Given the description of an element on the screen output the (x, y) to click on. 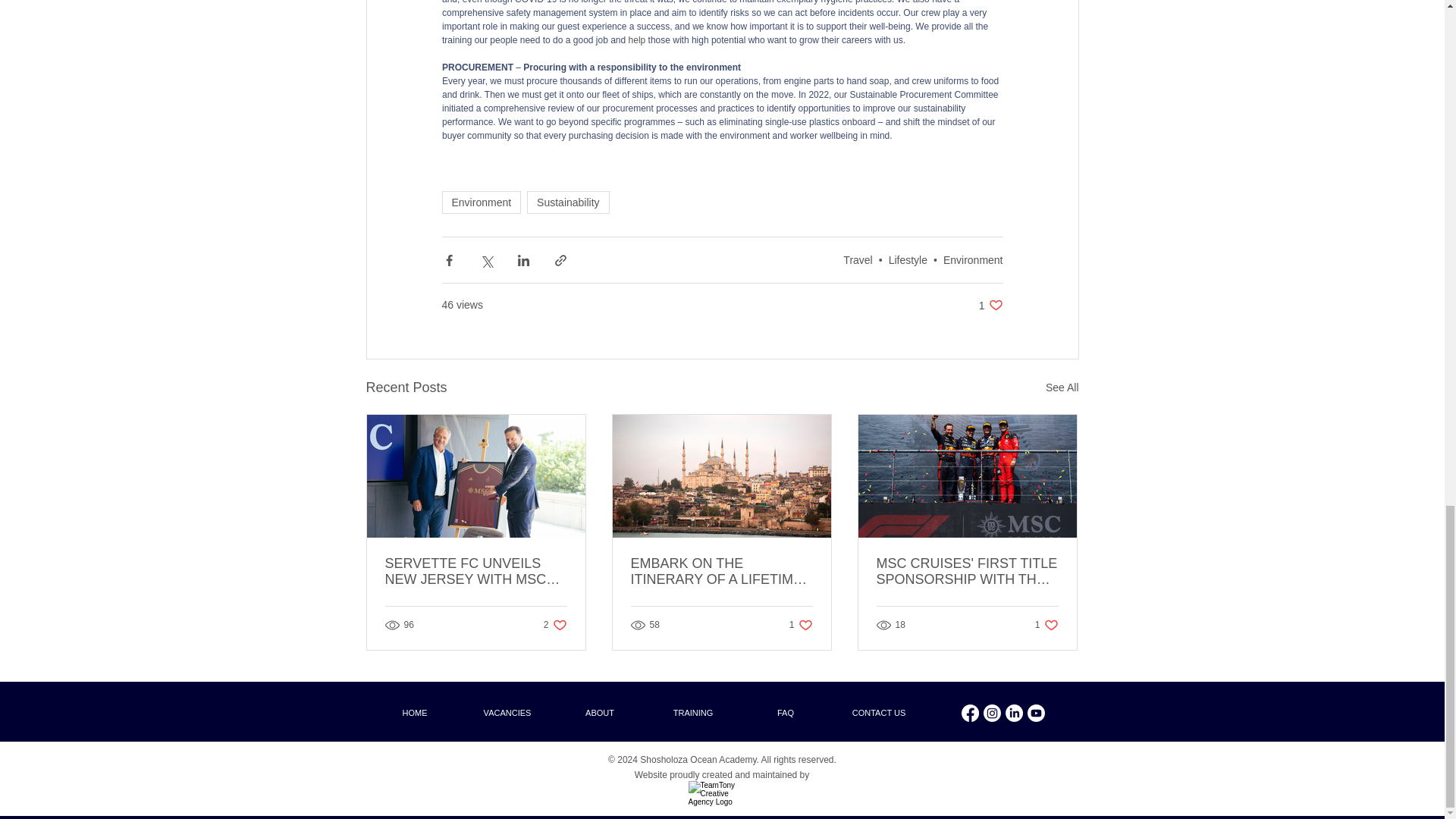
Sustainability (568, 201)
Environment (481, 201)
Environment (973, 259)
See All (1061, 387)
Lifestyle (907, 259)
Travel (857, 259)
